Given the description of an element on the screen output the (x, y) to click on. 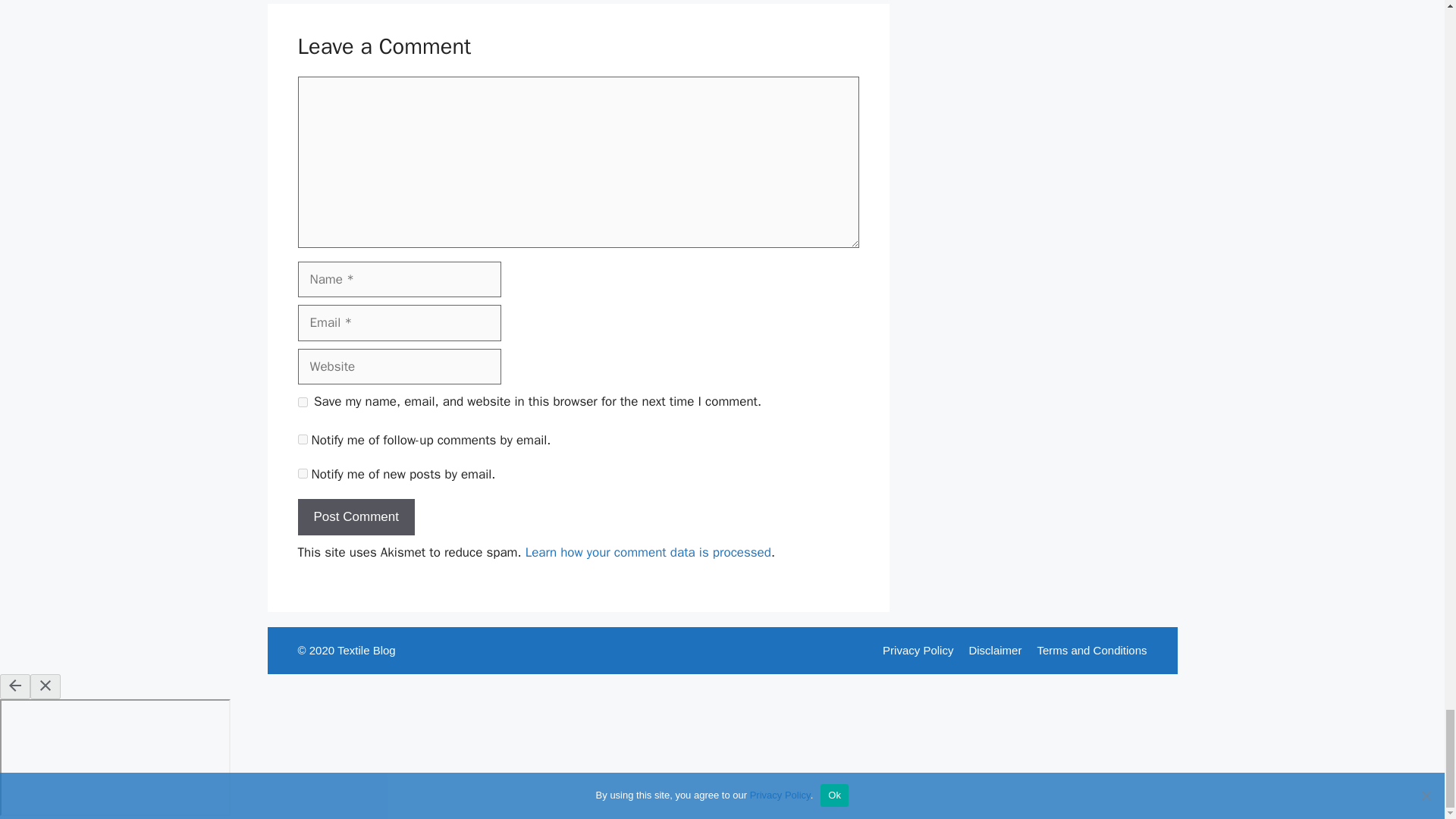
subscribe (302, 439)
yes (302, 402)
Post Comment (355, 516)
Learn how your comment data is processed (648, 552)
subscribe (302, 473)
Post Comment (355, 516)
